Given the description of an element on the screen output the (x, y) to click on. 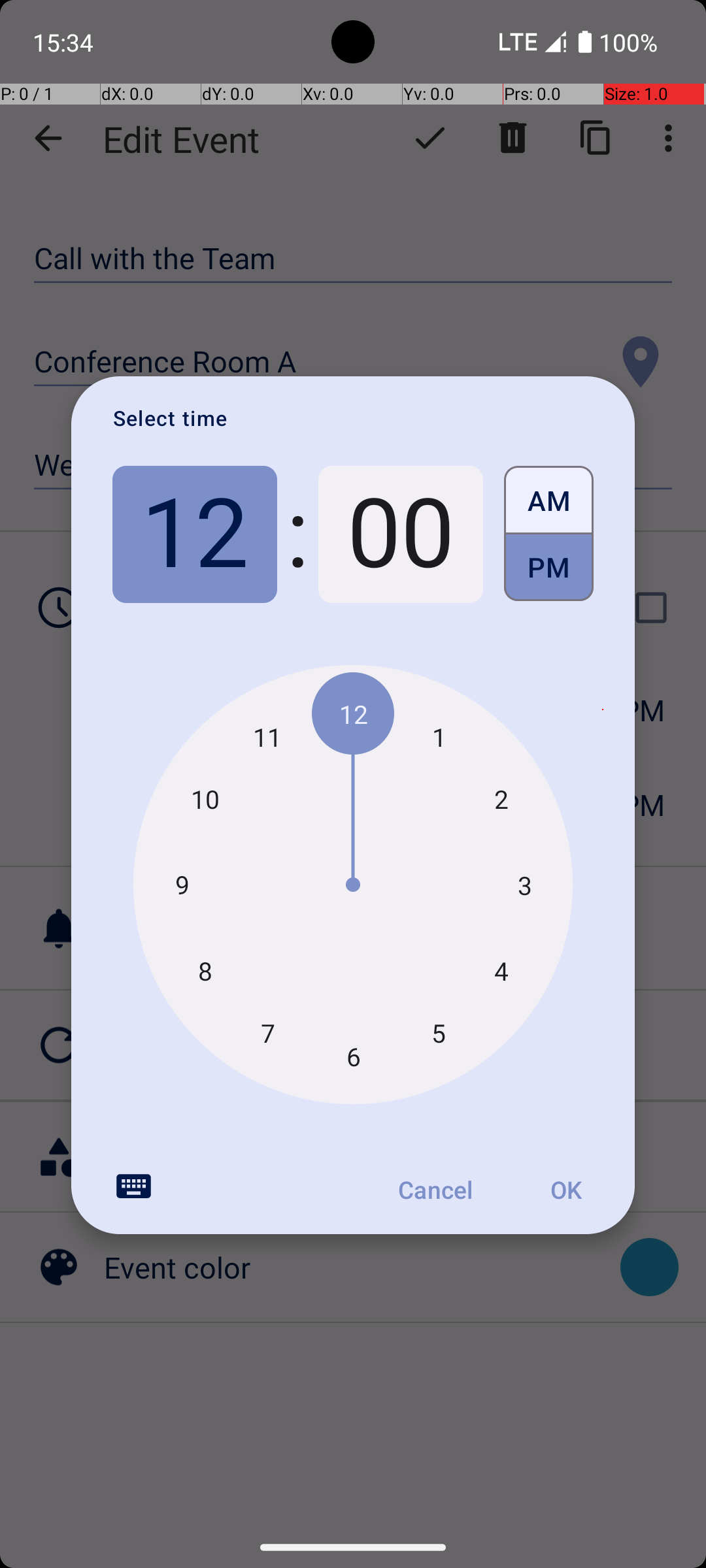
Select AM or PM Element type: android.widget.LinearLayout (548, 534)
